Given the description of an element on the screen output the (x, y) to click on. 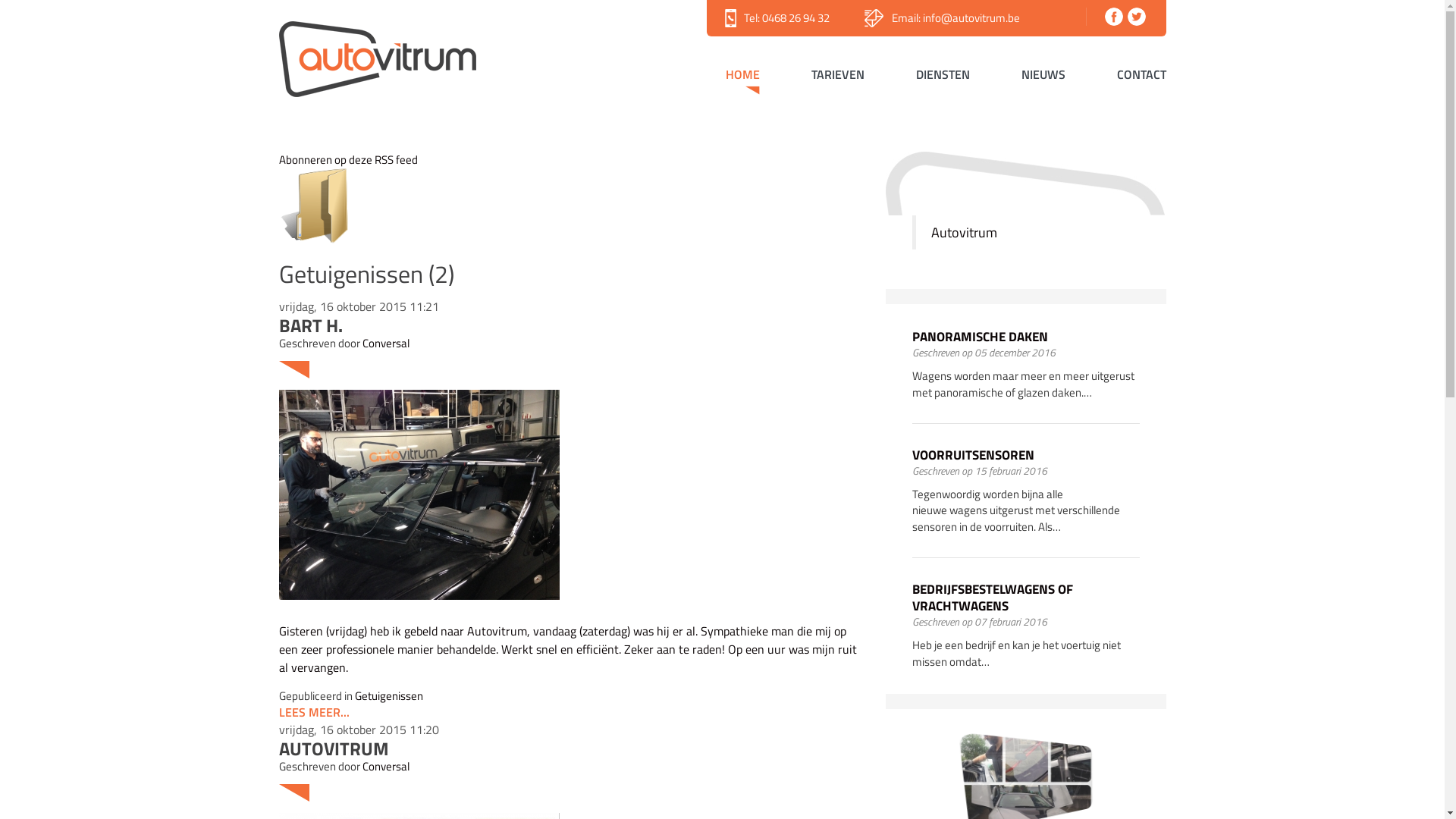
0468 26 94 32 Element type: text (794, 17)
info@autovitrum.be Element type: text (970, 17)
LEES MEER... Element type: text (314, 711)
AUTOVITRUM Element type: text (334, 748)
PANORAMISCHE DAKEN Element type: text (979, 336)
CONTACT Element type: text (1130, 76)
Autovitrum Element type: text (964, 232)
Conversal Element type: text (385, 766)
VOORRUITSENSOREN Element type: text (972, 454)
TARIEVEN Element type: text (837, 76)
DIENSTEN Element type: text (942, 76)
Conversal Element type: text (385, 342)
Abonneren op deze RSS feed Element type: text (348, 159)
HOME Element type: text (741, 76)
NIEUWS Element type: text (1042, 76)
Getuigenissen Element type: text (388, 695)
Bart H. Element type: hover (419, 494)
BEDRIJFSBESTELWAGENS OF VRACHTWAGENS Element type: text (991, 597)
BART H. Element type: text (310, 324)
